Given the description of an element on the screen output the (x, y) to click on. 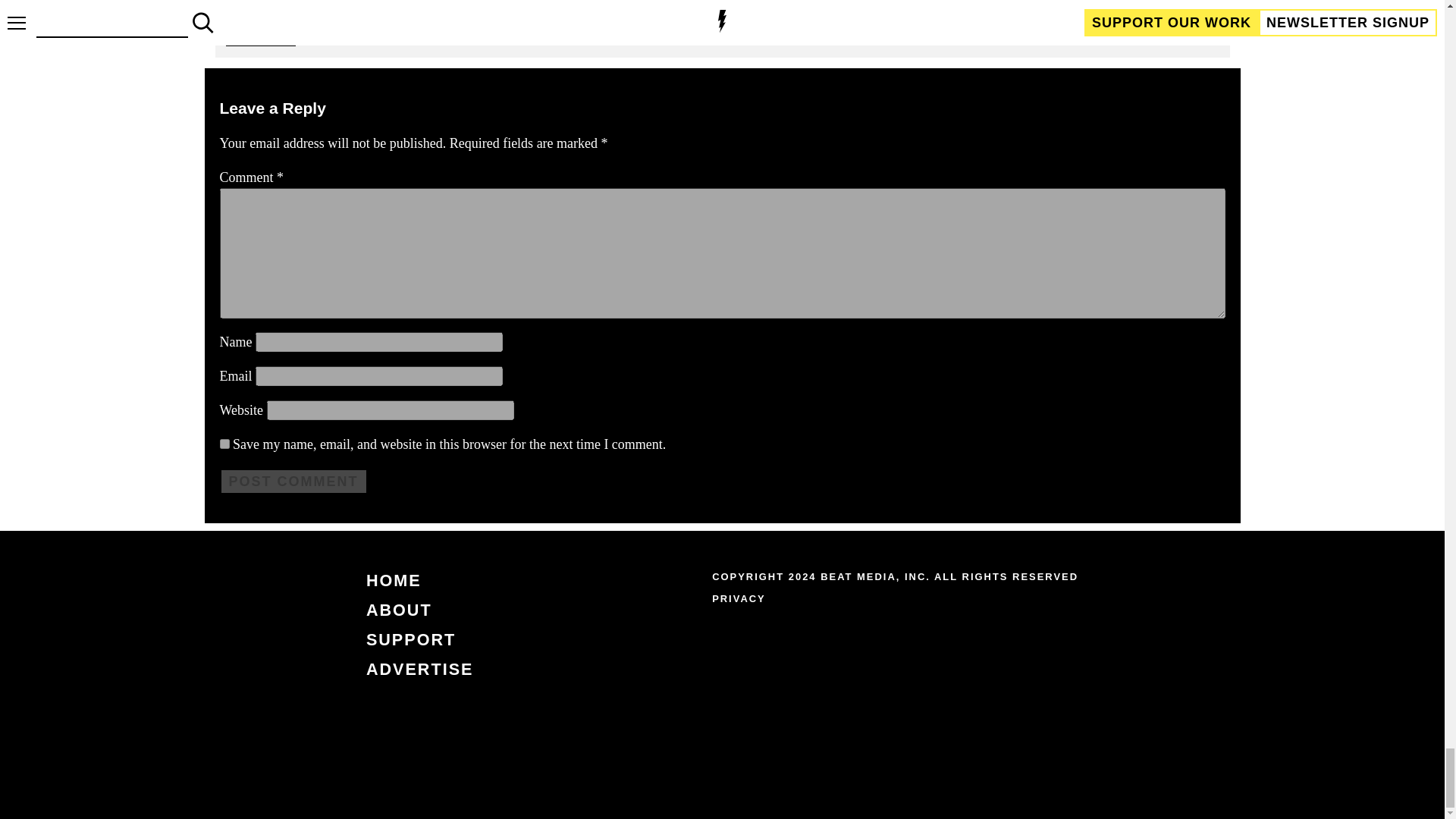
Post Comment (293, 481)
yes (224, 443)
